Given the description of an element on the screen output the (x, y) to click on. 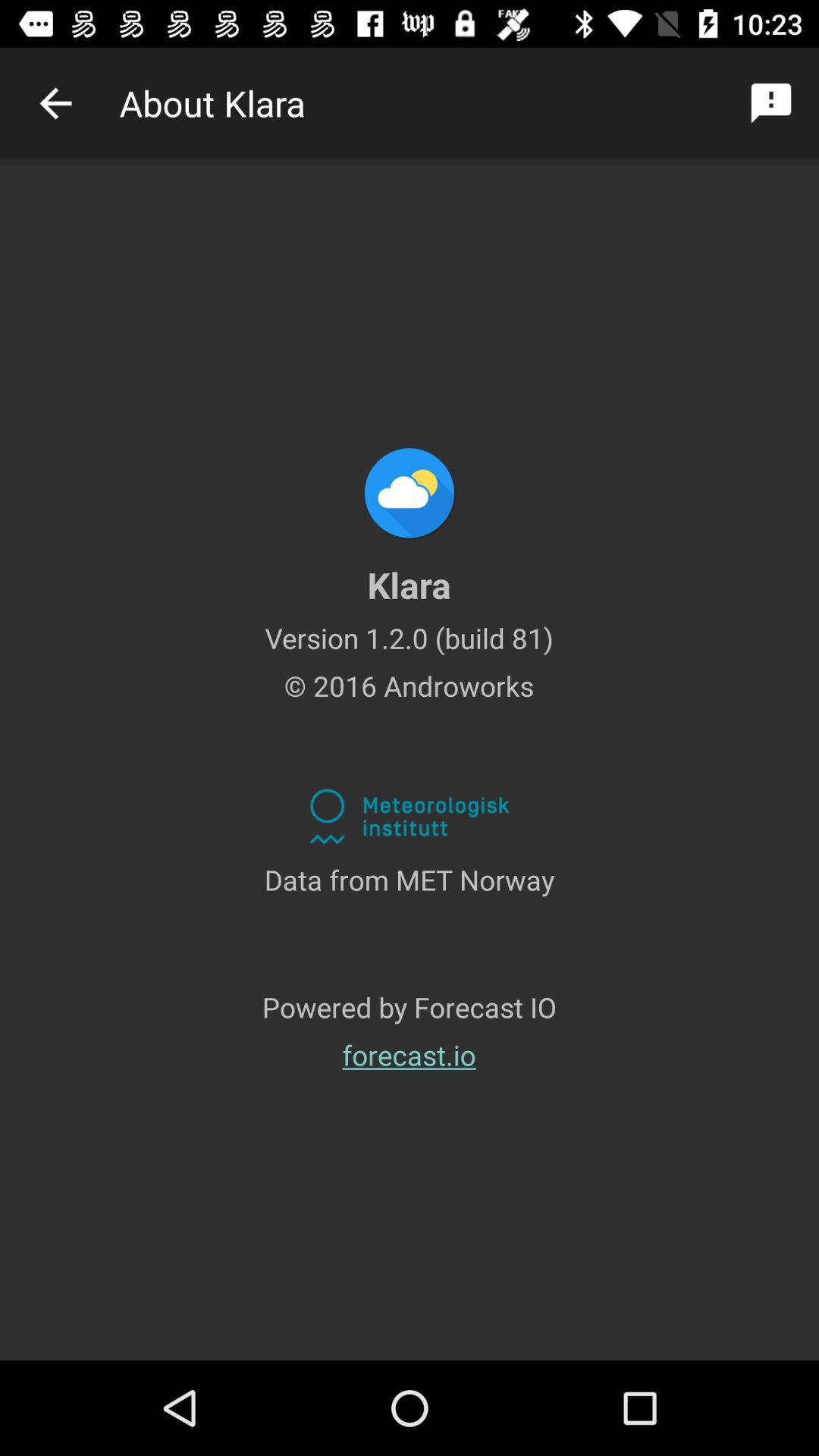
go back (55, 103)
